Given the description of an element on the screen output the (x, y) to click on. 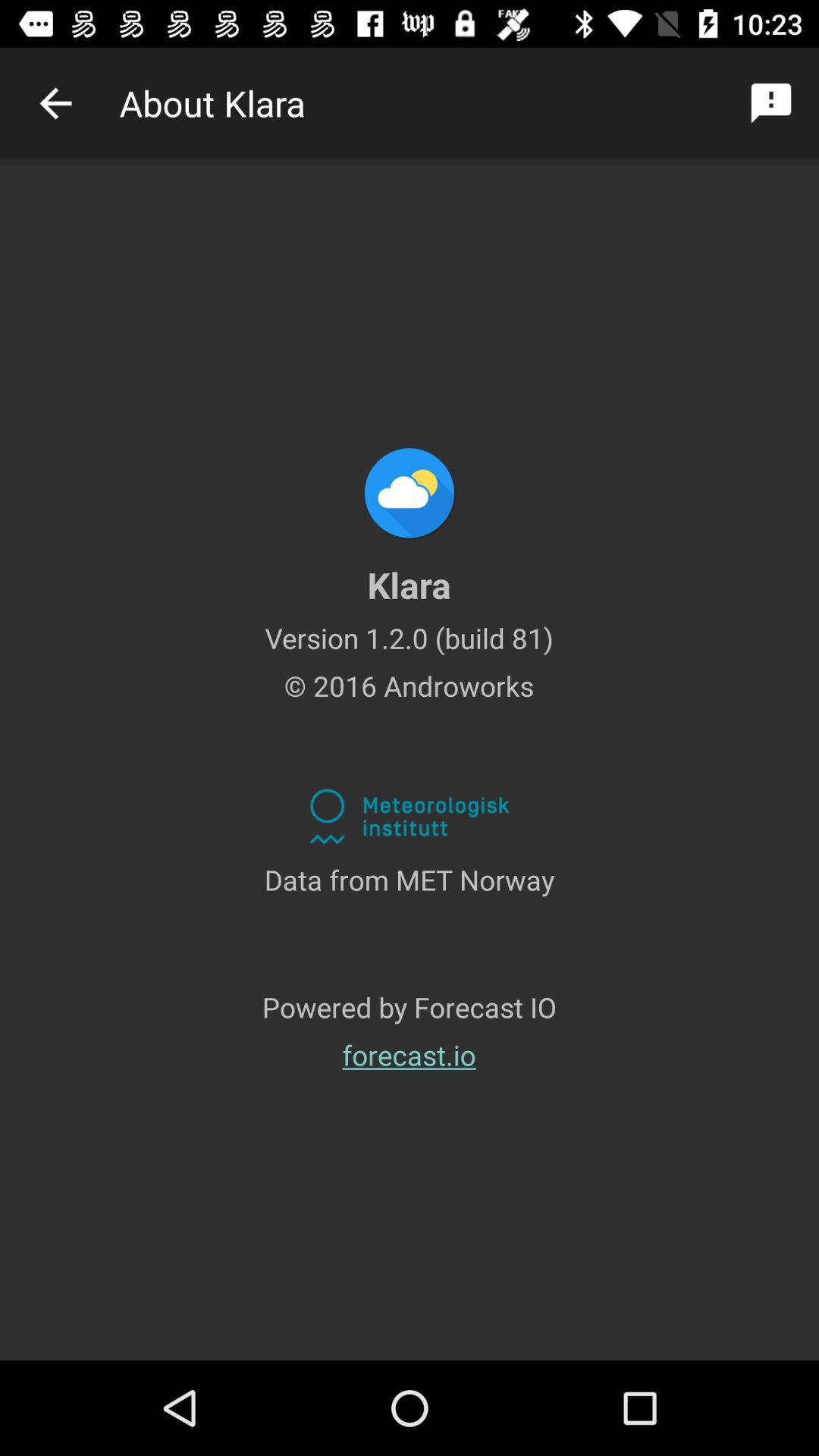
go back (55, 103)
